Given the description of an element on the screen output the (x, y) to click on. 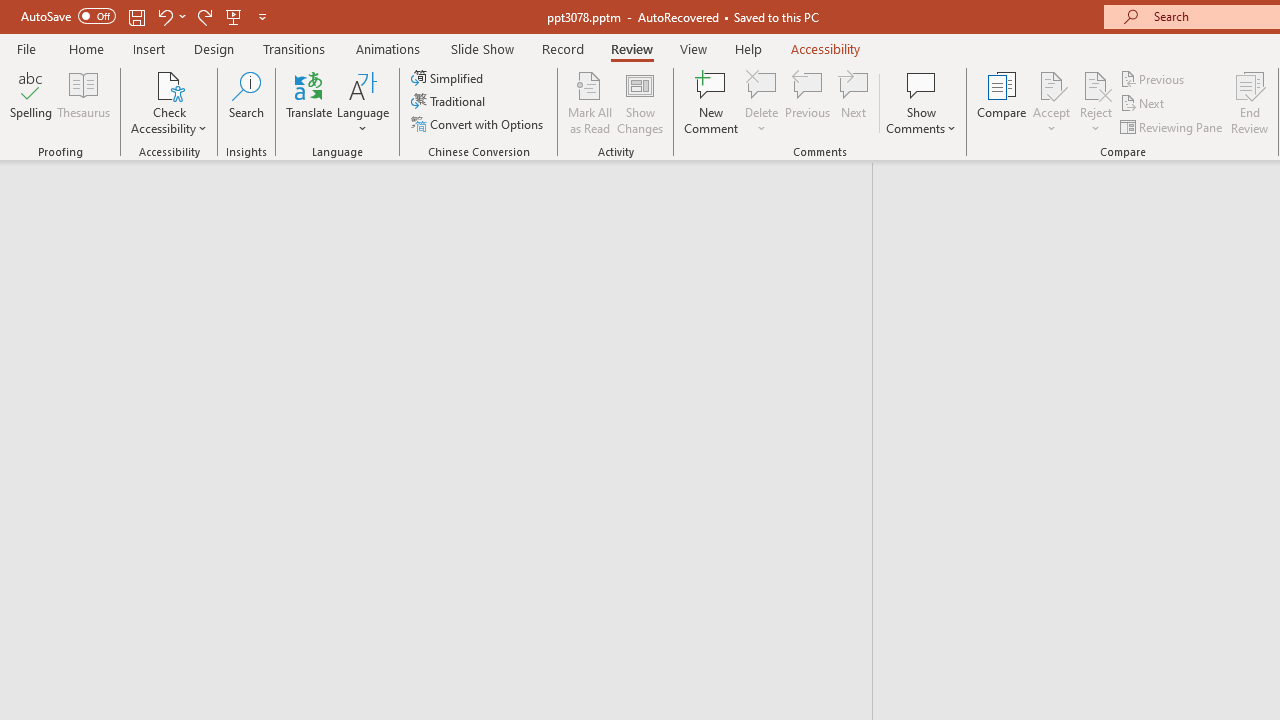
Compare (1002, 102)
Next (1144, 103)
Show Changes (639, 102)
Check Accessibility (169, 84)
Outline (445, 202)
Previous (1153, 78)
Thesaurus... (83, 102)
Show Comments (921, 84)
Show Comments (921, 102)
Translate (309, 102)
